Given the description of an element on the screen output the (x, y) to click on. 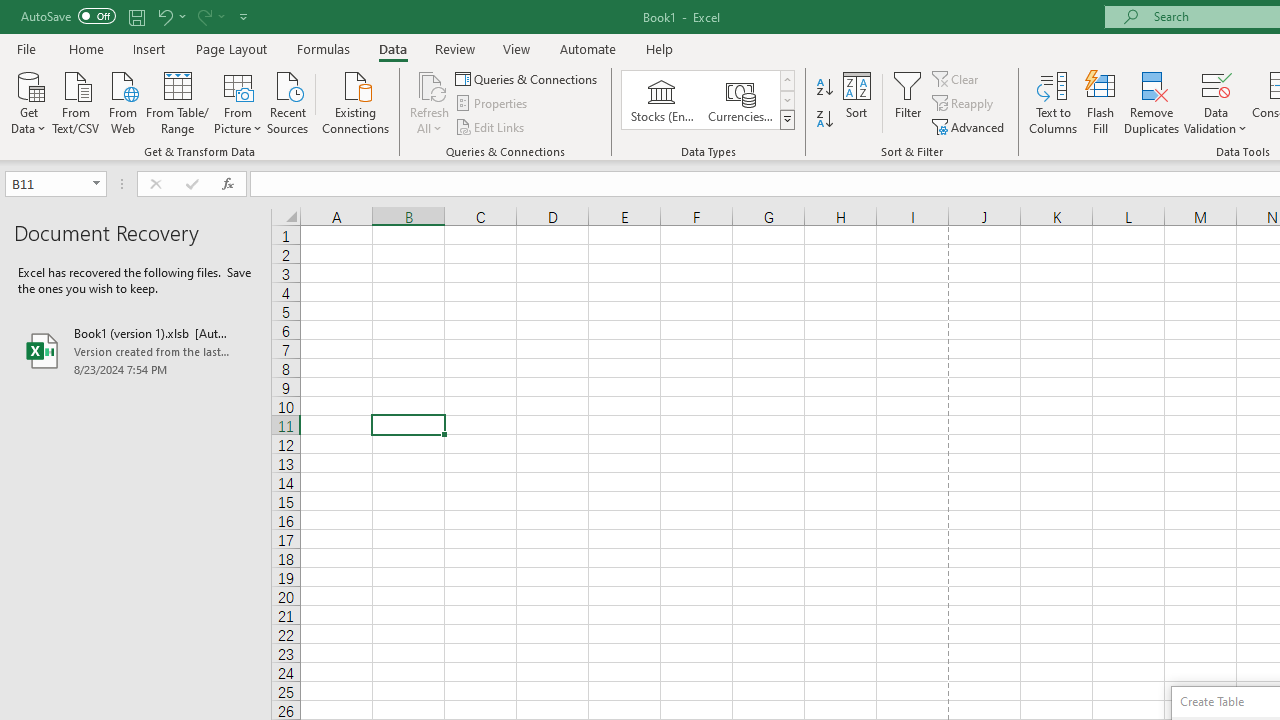
Insert (149, 48)
Queries & Connections (527, 78)
Page Layout (230, 48)
Name Box (46, 183)
Name Box (56, 183)
Clear (957, 78)
Undo (170, 15)
Edit Links (491, 126)
System (10, 11)
Automate (588, 48)
Properties (492, 103)
Open (96, 183)
Undo (164, 15)
Book1 (version 1).xlsb  [AutoRecovered] (136, 350)
